Given the description of an element on the screen output the (x, y) to click on. 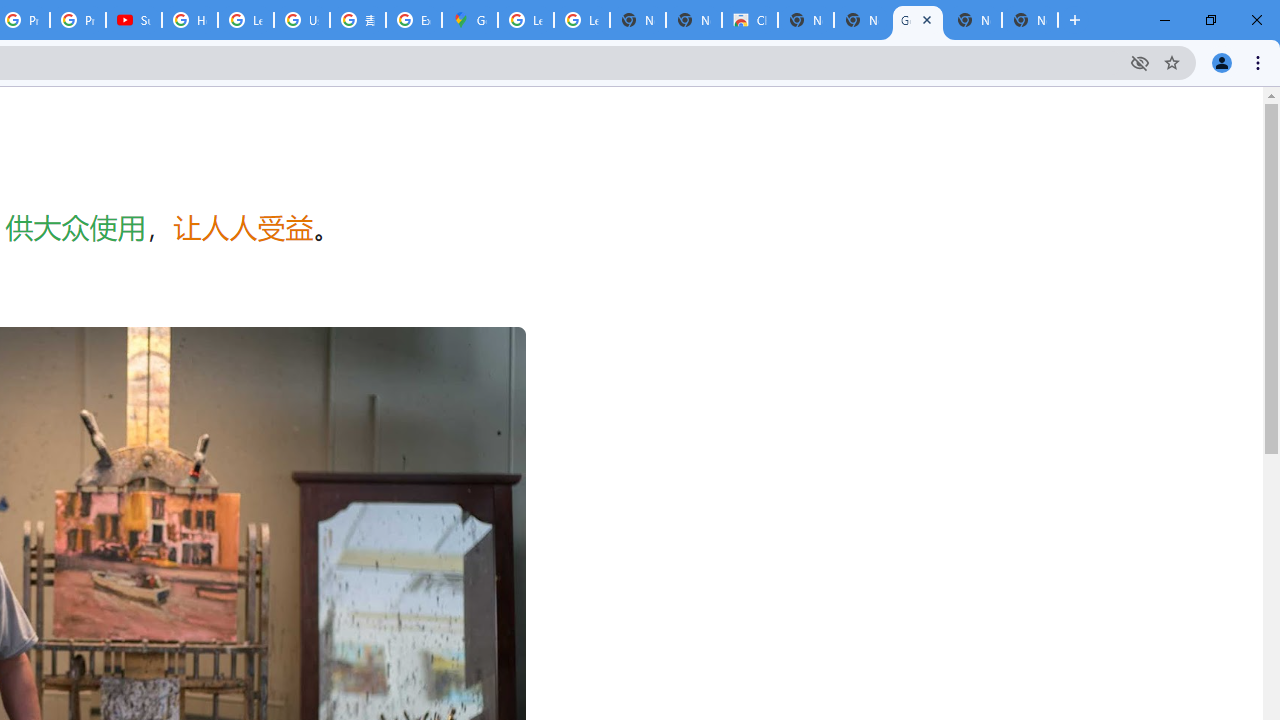
How Chrome protects your passwords - Google Chrome Help (189, 20)
